Given the description of an element on the screen output the (x, y) to click on. 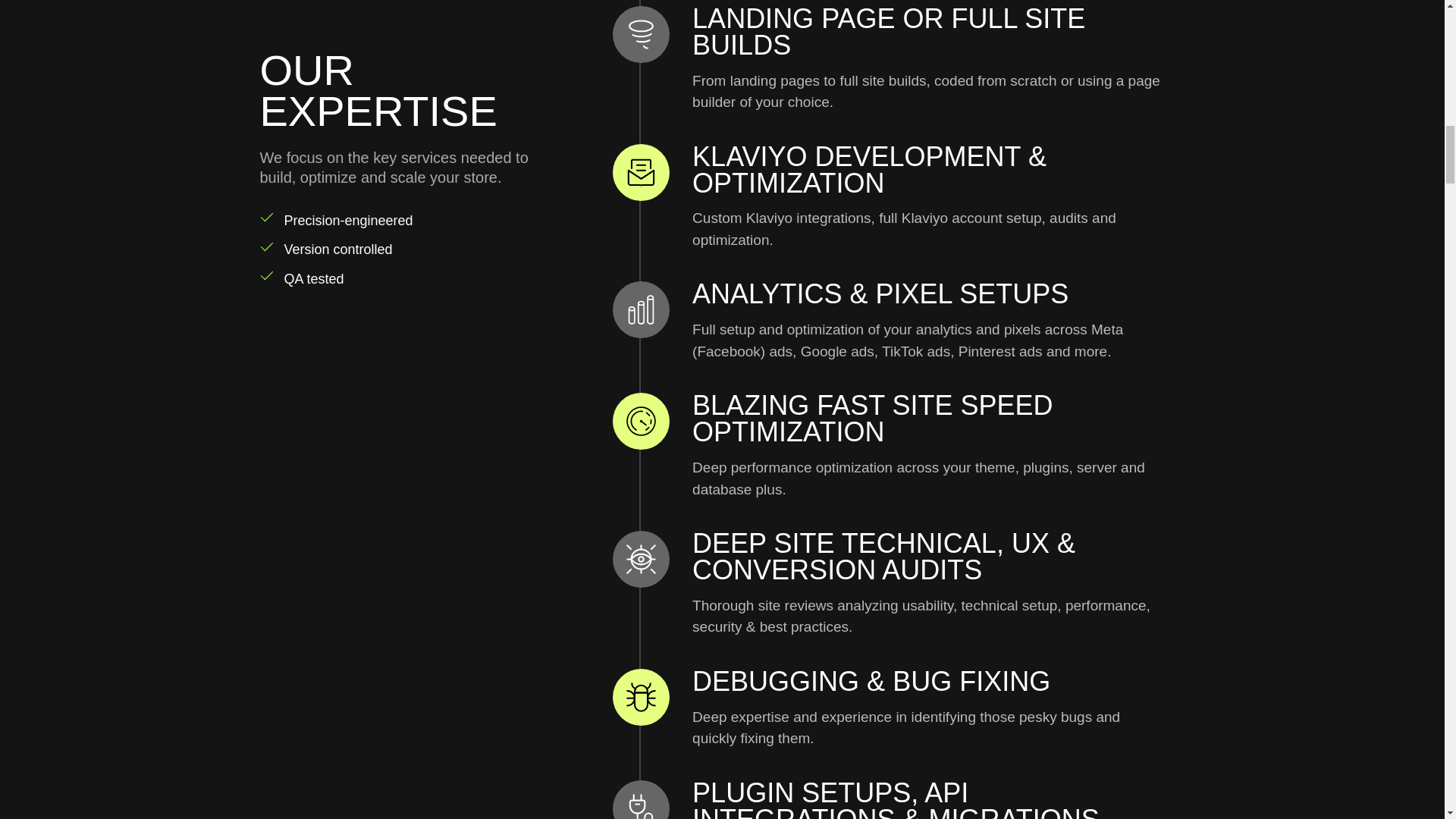
Dna-2-Streamline-Brooklyn-2 (342, 17)
